Given the description of an element on the screen output the (x, y) to click on. 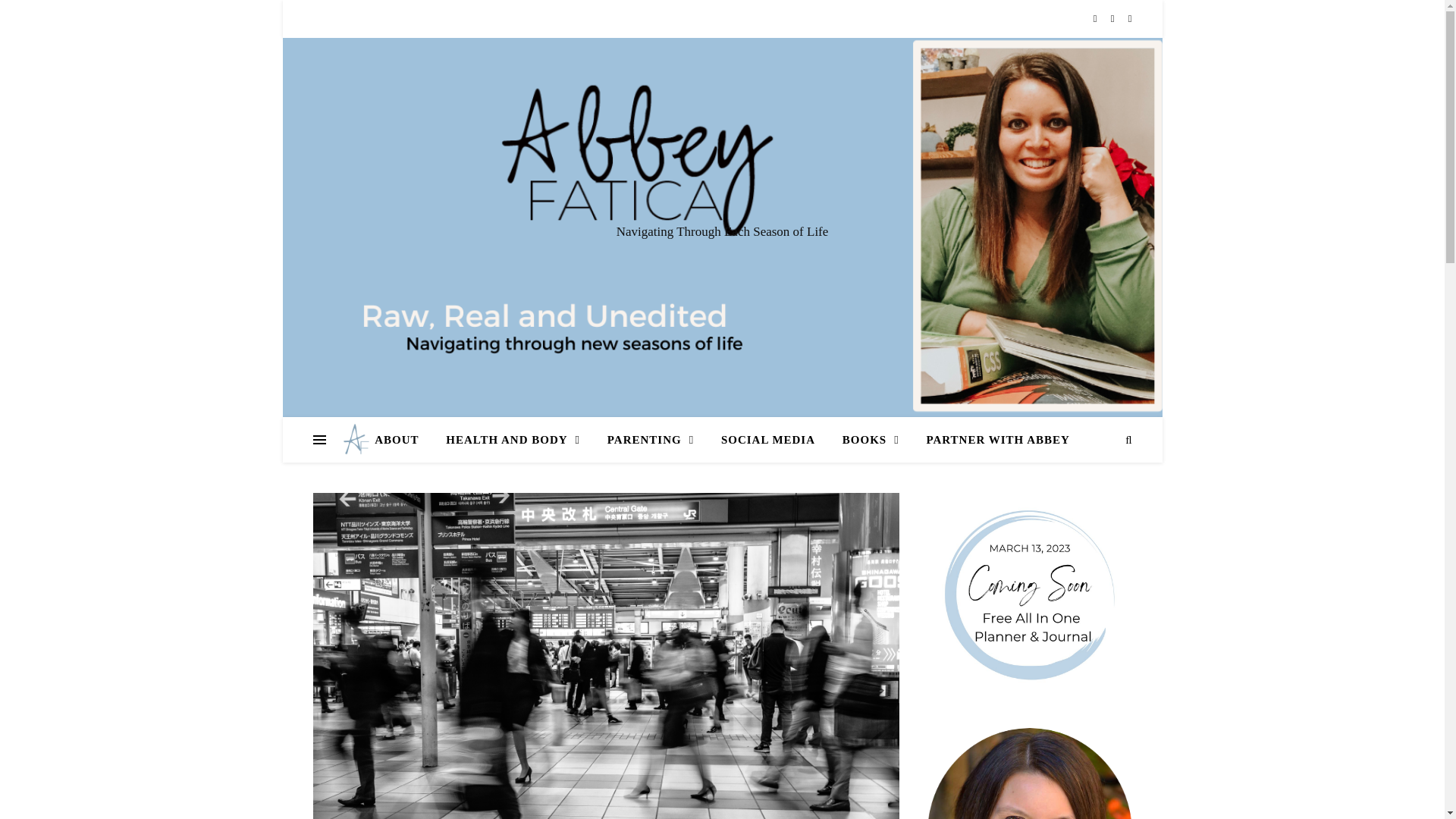
SOCIAL MEDIA (768, 439)
ABOUT (402, 439)
PARTNER WITH ABBEY (991, 439)
BOOKS (870, 439)
Abbey Fatica (353, 439)
PARENTING (650, 439)
HEALTH AND BODY (512, 439)
